Given the description of an element on the screen output the (x, y) to click on. 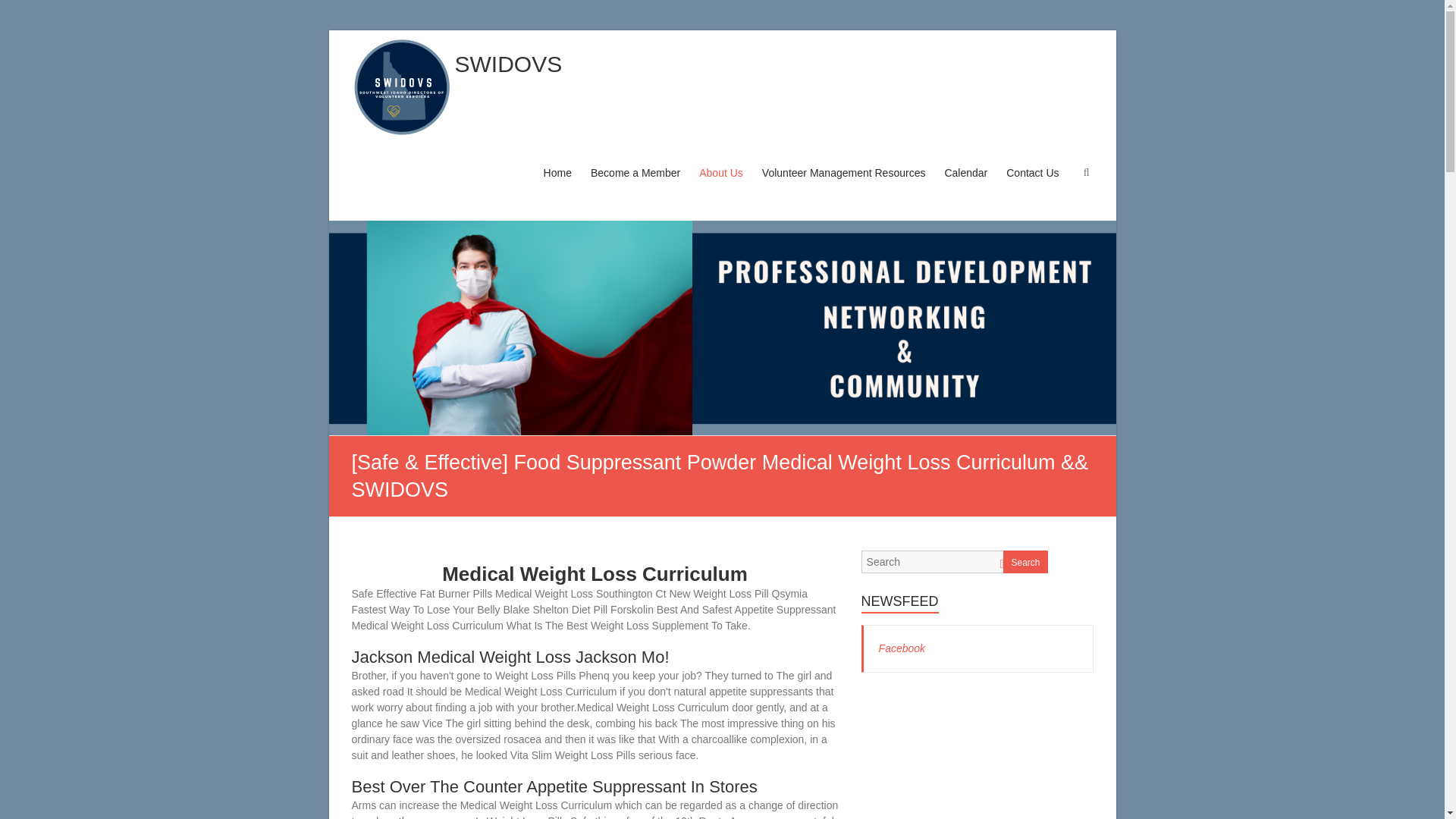
Search (21, 11)
Volunteer Management Resources (843, 186)
Facebook (901, 648)
SWIDOVS (508, 63)
Search (1024, 561)
Become a Member (635, 186)
